Given the description of an element on the screen output the (x, y) to click on. 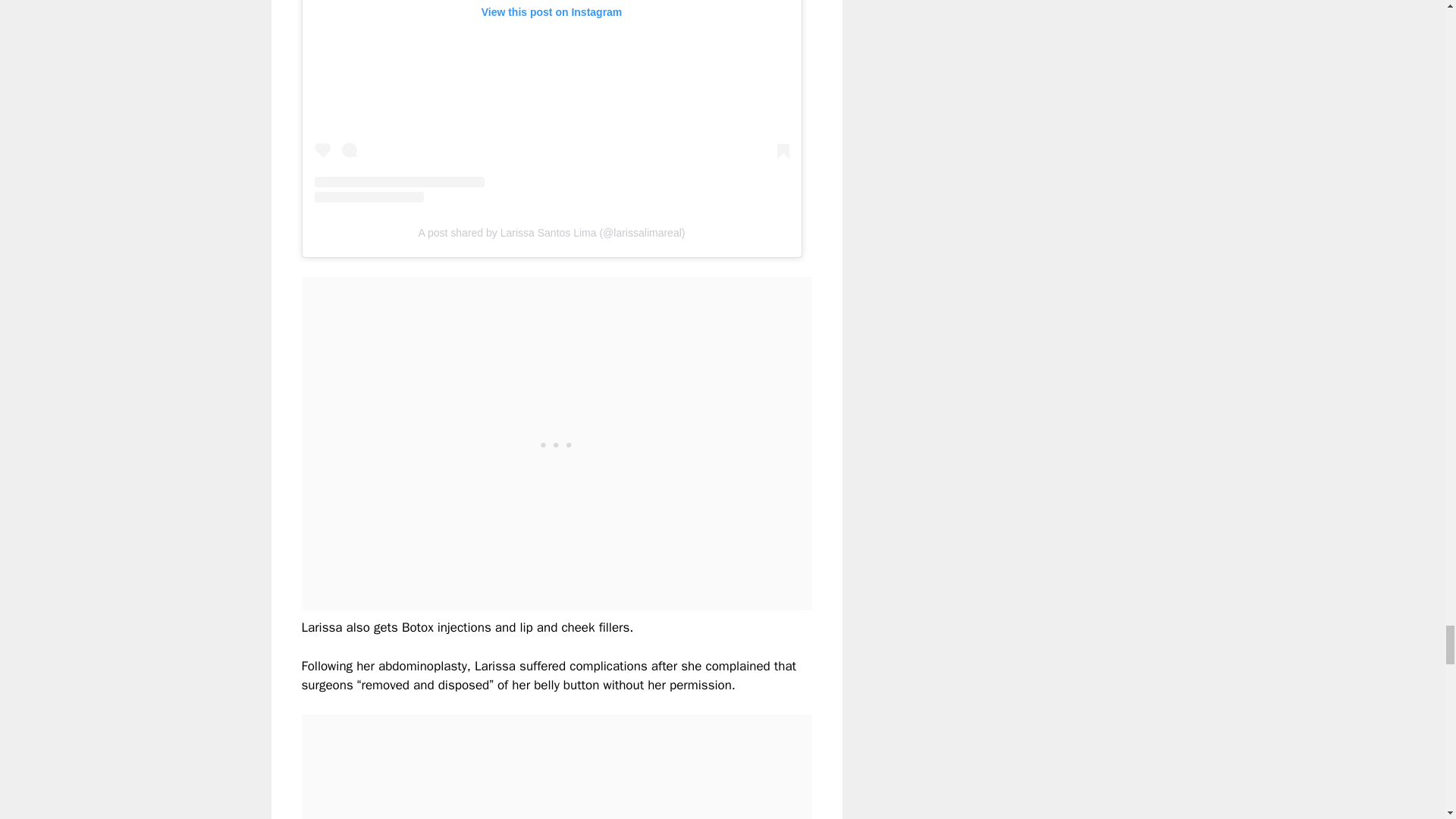
View this post on Instagram (551, 101)
